Given the description of an element on the screen output the (x, y) to click on. 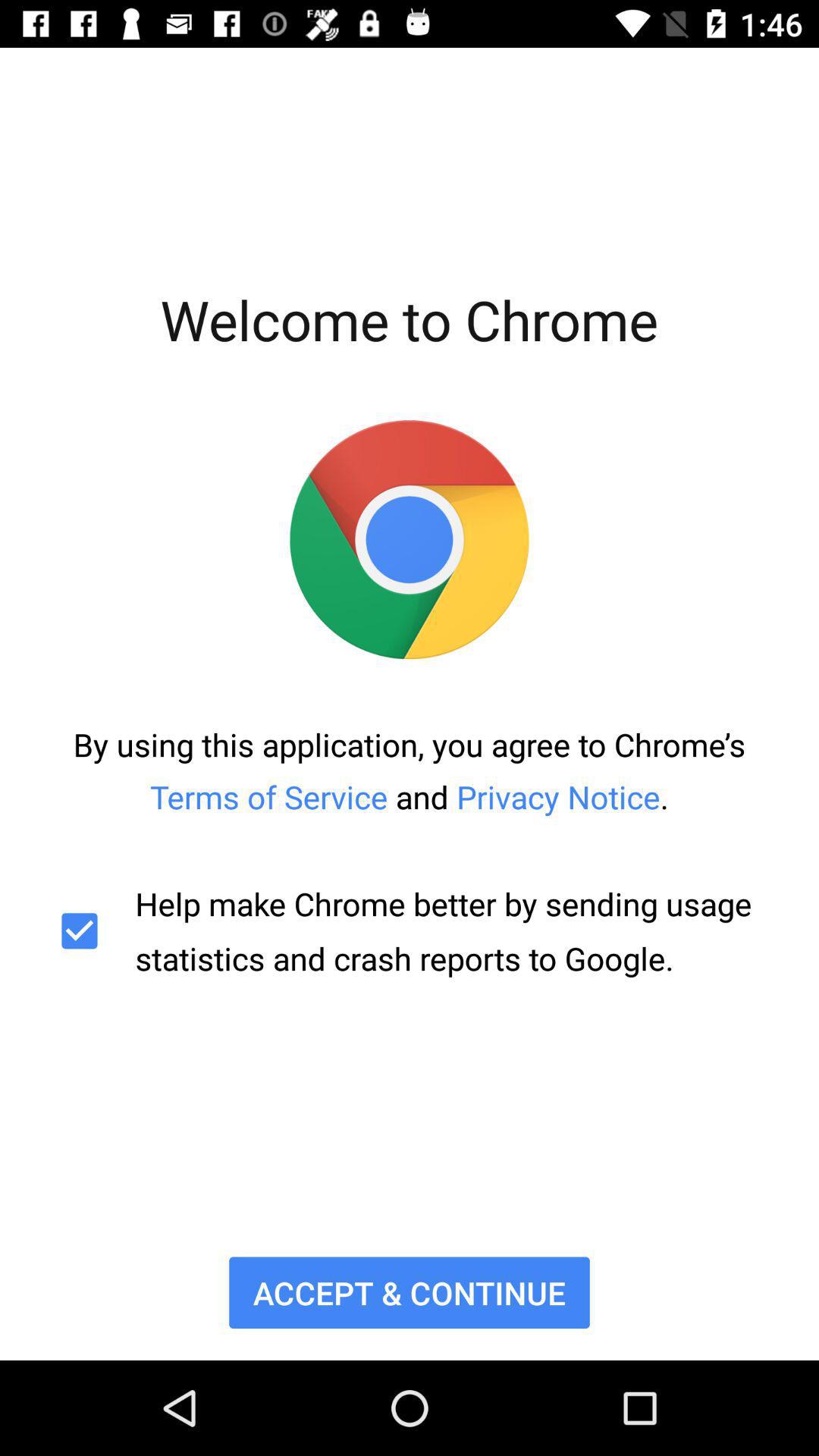
scroll until help make chrome icon (409, 930)
